Given the description of an element on the screen output the (x, y) to click on. 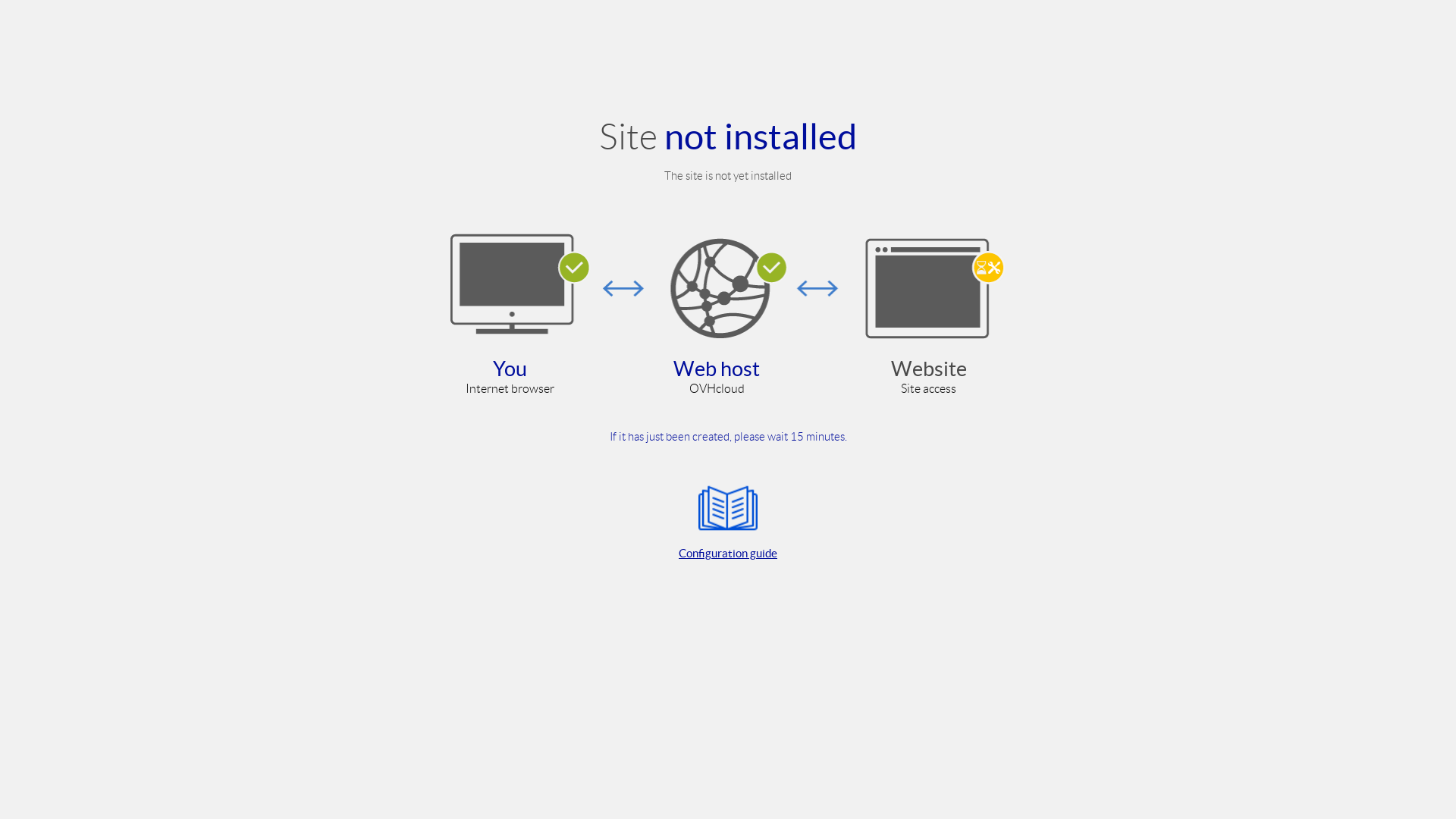
Configuration guide Element type: text (727, 519)
